Given the description of an element on the screen output the (x, y) to click on. 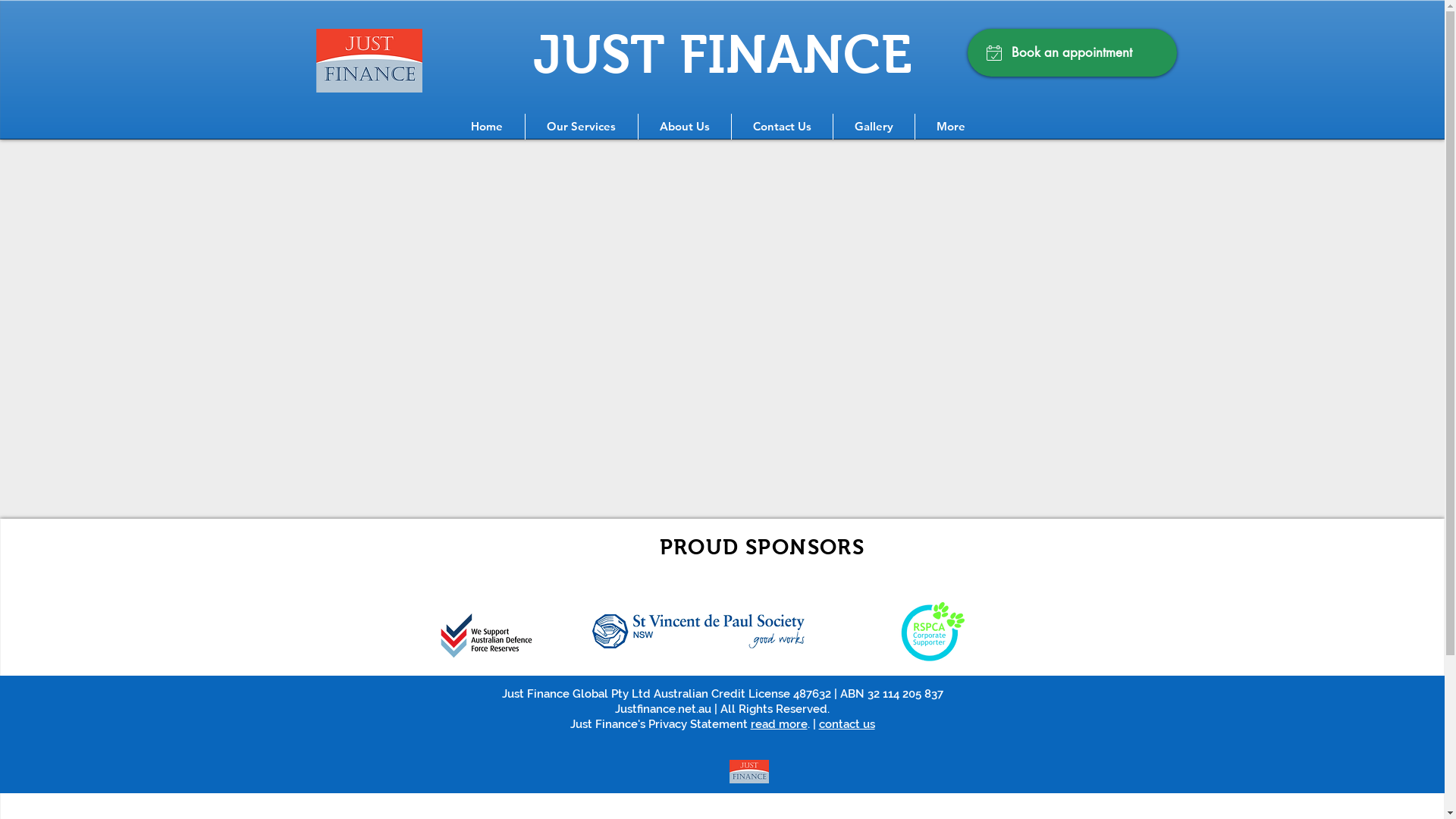
contact us Element type: text (847, 723)
Home Element type: text (486, 126)
JUST FINANCE Element type: text (722, 50)
Contact Us Element type: text (781, 126)
Book an appointment Element type: text (1071, 52)
read more Element type: text (778, 724)
Gallery Element type: text (872, 126)
About Us Element type: text (684, 126)
Our Services Element type: text (580, 126)
